Given the description of an element on the screen output the (x, y) to click on. 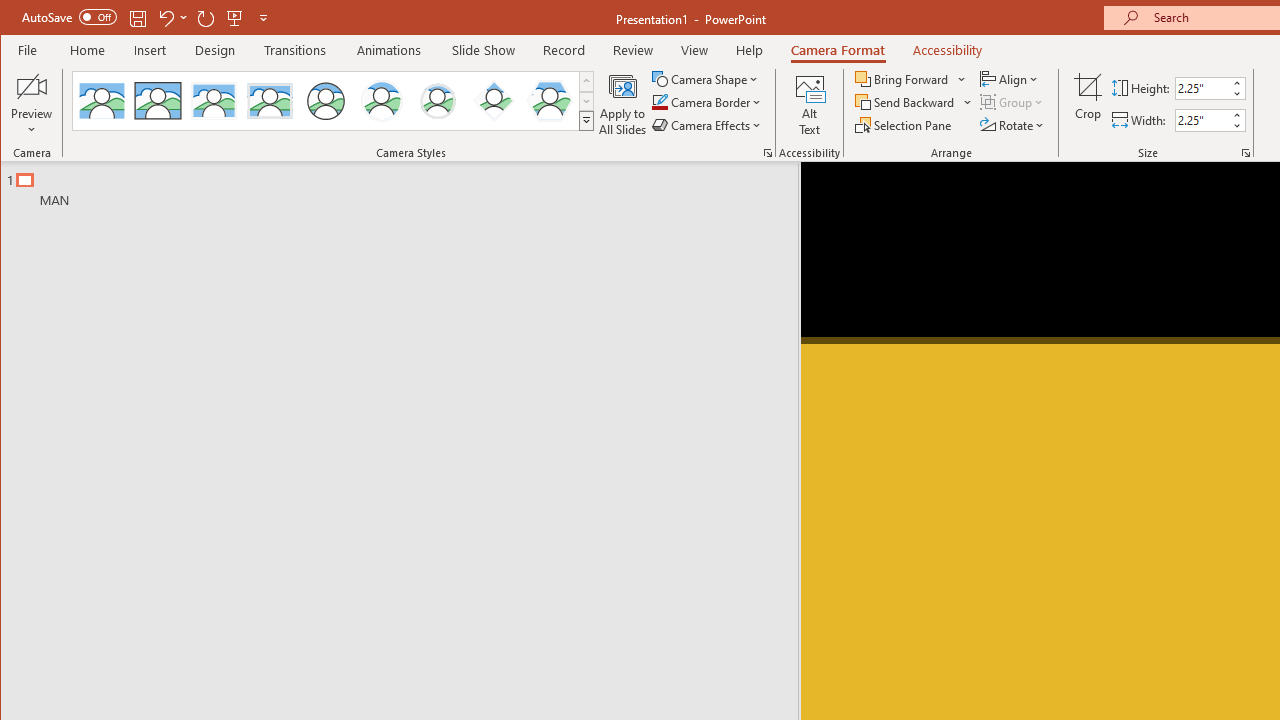
Camera Styles (585, 120)
Simple Frame Circle (326, 100)
Soft Edge Circle (437, 100)
Center Shadow Circle (381, 100)
Enable Camera Preview (31, 86)
Camera Effects (708, 124)
AutomationID: CameoStylesGallery (333, 101)
Camera Shape (706, 78)
